Given the description of an element on the screen output the (x, y) to click on. 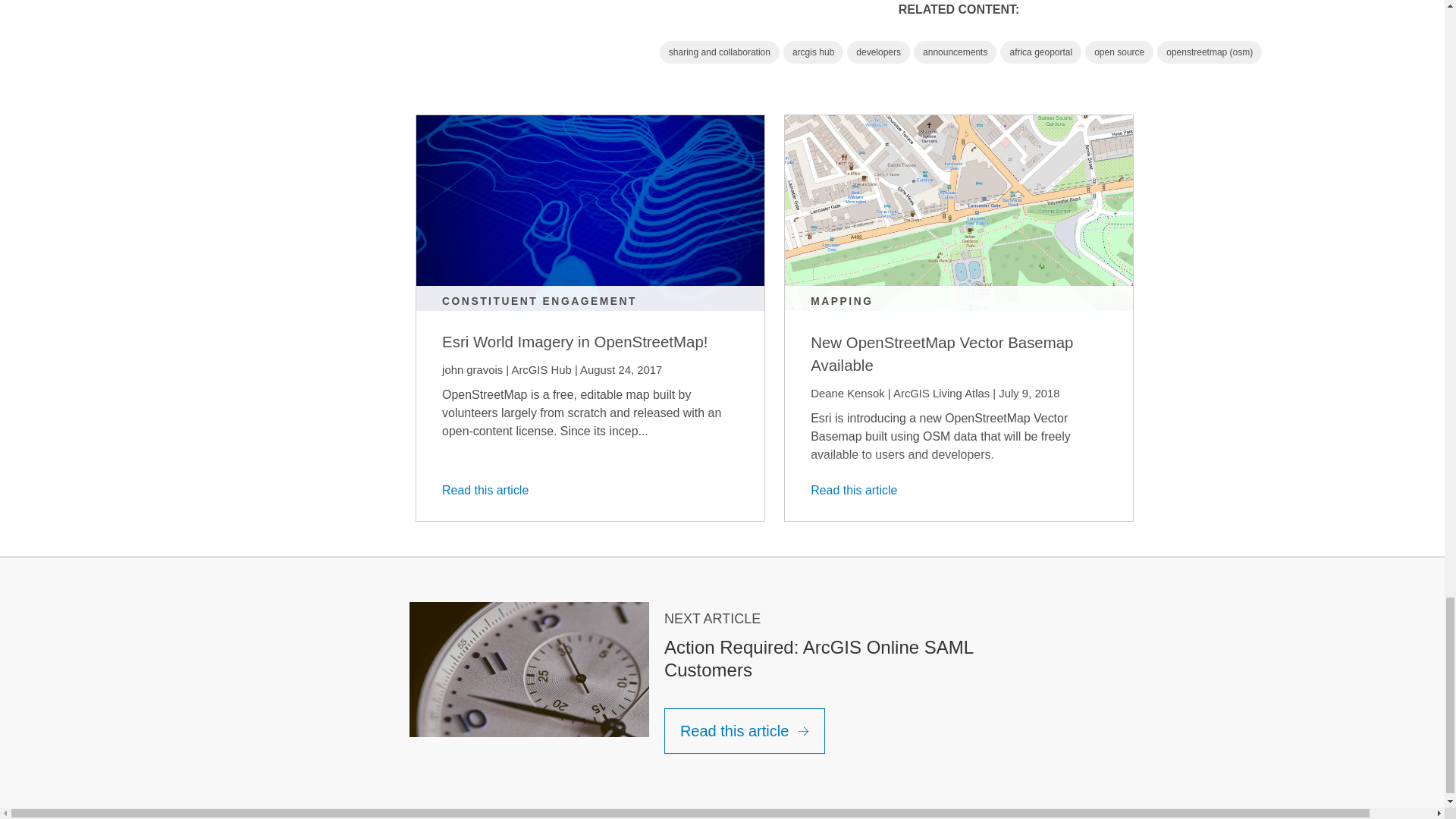
announcements (954, 51)
open source (1118, 51)
africa geoportal (1040, 51)
developers (878, 51)
arcgis hub (813, 51)
sharing and collaboration (718, 51)
